Given the description of an element on the screen output the (x, y) to click on. 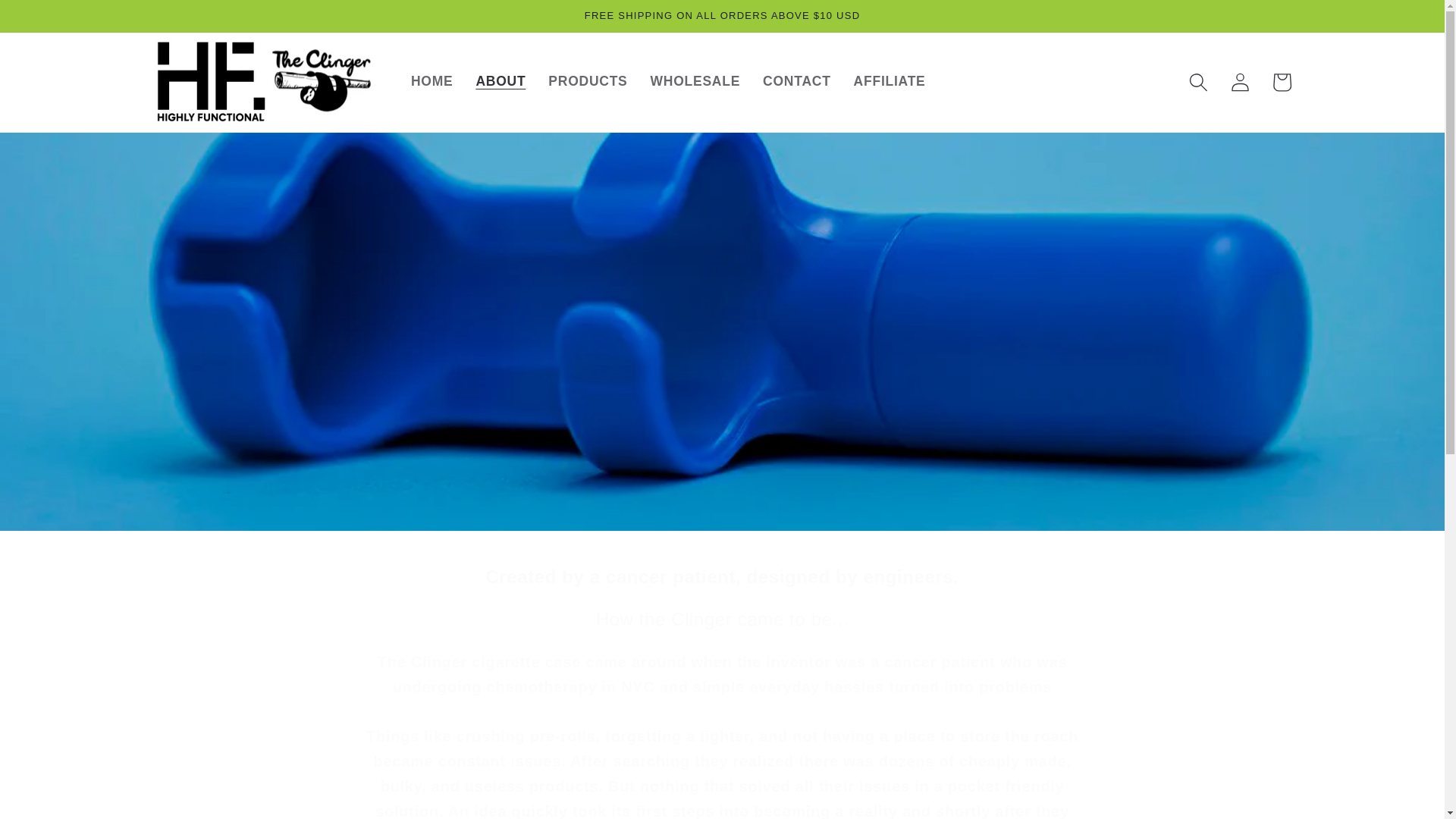
PRODUCTS (588, 81)
HOME (431, 81)
ABOUT (500, 81)
Created by a cancer patient, designed by engineers. (722, 576)
AFFILIATE (890, 81)
WHOLESALE (695, 81)
Log in (1240, 82)
How the Clinger came to be... (722, 618)
Cart (1280, 82)
CONTACT (797, 81)
Skip to content (58, 22)
